Given the description of an element on the screen output the (x, y) to click on. 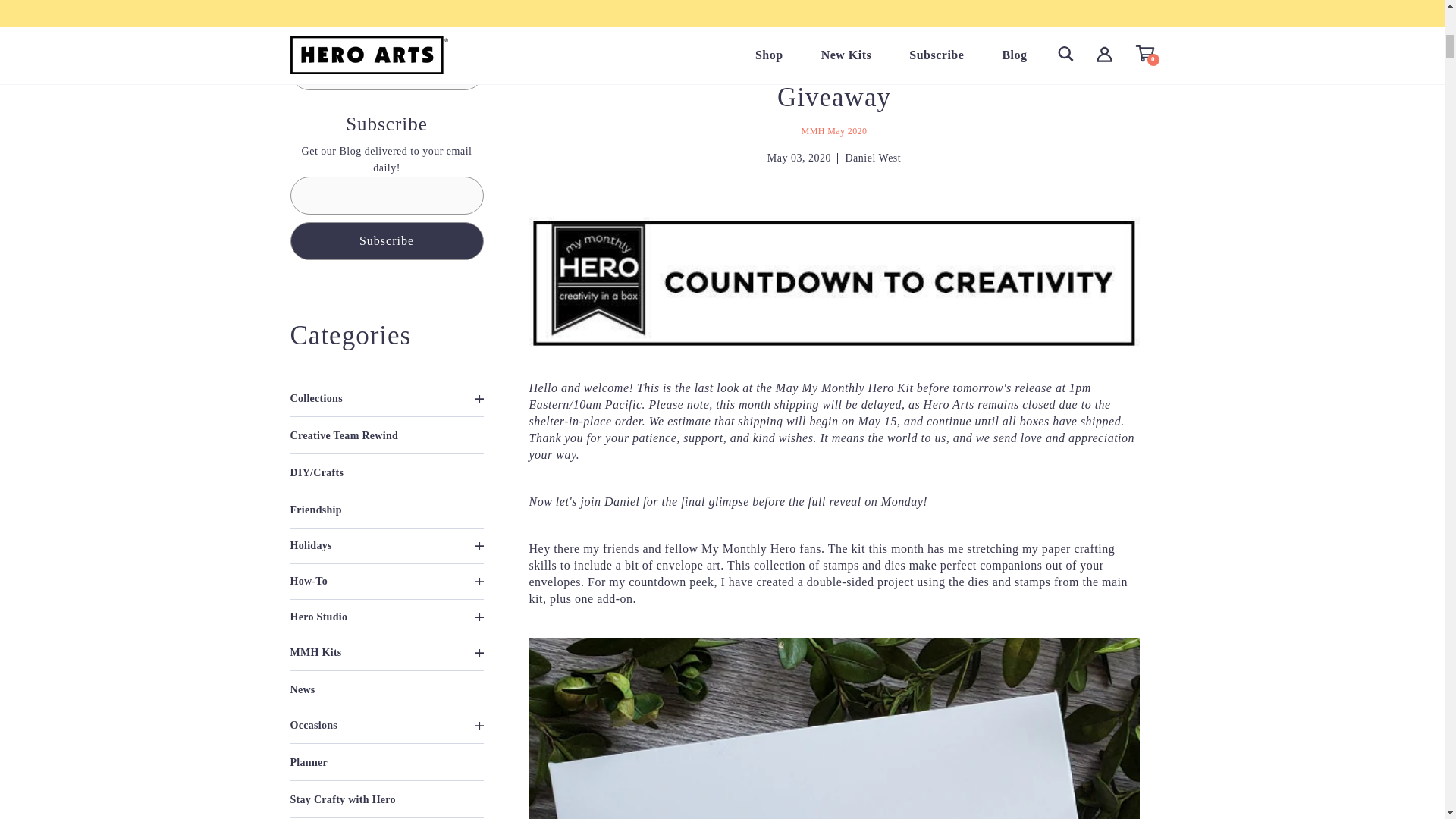
Hero Arts Blog tagged Holidays (386, 545)
Hero Arts Blog tagged Friendship (314, 509)
Hero Arts Blog tagged Collections (386, 398)
Hero Arts Blog tagged Creative Team Rewind (343, 434)
Subscribe (386, 240)
